Given the description of an element on the screen output the (x, y) to click on. 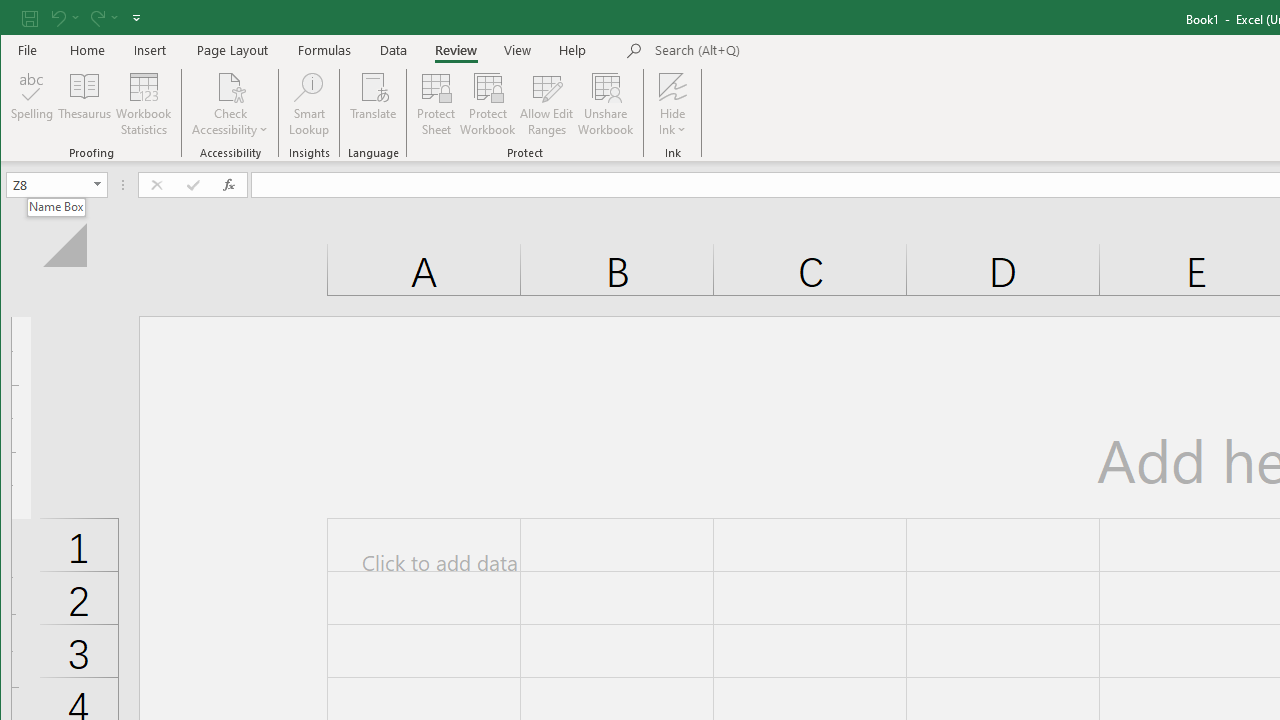
Workbook Statistics (143, 104)
Thesaurus... (84, 104)
Smart Lookup (308, 104)
